Given the description of an element on the screen output the (x, y) to click on. 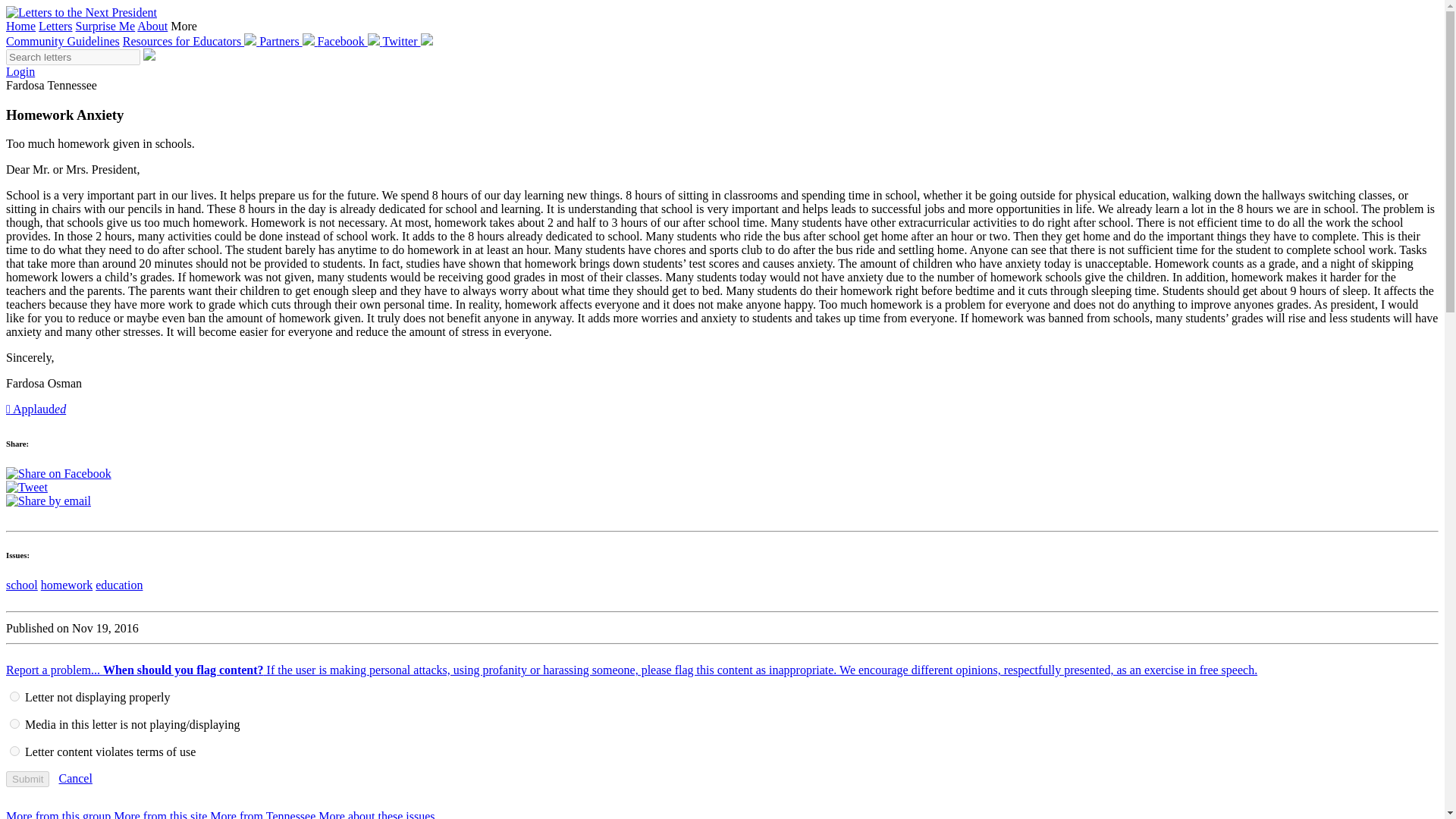
Partners (288, 41)
Submit (27, 779)
Home (19, 25)
Cancel (74, 778)
Twitter (407, 41)
Login (19, 71)
Facebook (349, 41)
Letter not displaying properly (15, 696)
Submit (27, 779)
Letter content violates terms of use (15, 750)
homework (66, 584)
education (119, 584)
Resources for Educators (190, 41)
Letters (55, 25)
Surprise Me (105, 25)
